Given the description of an element on the screen output the (x, y) to click on. 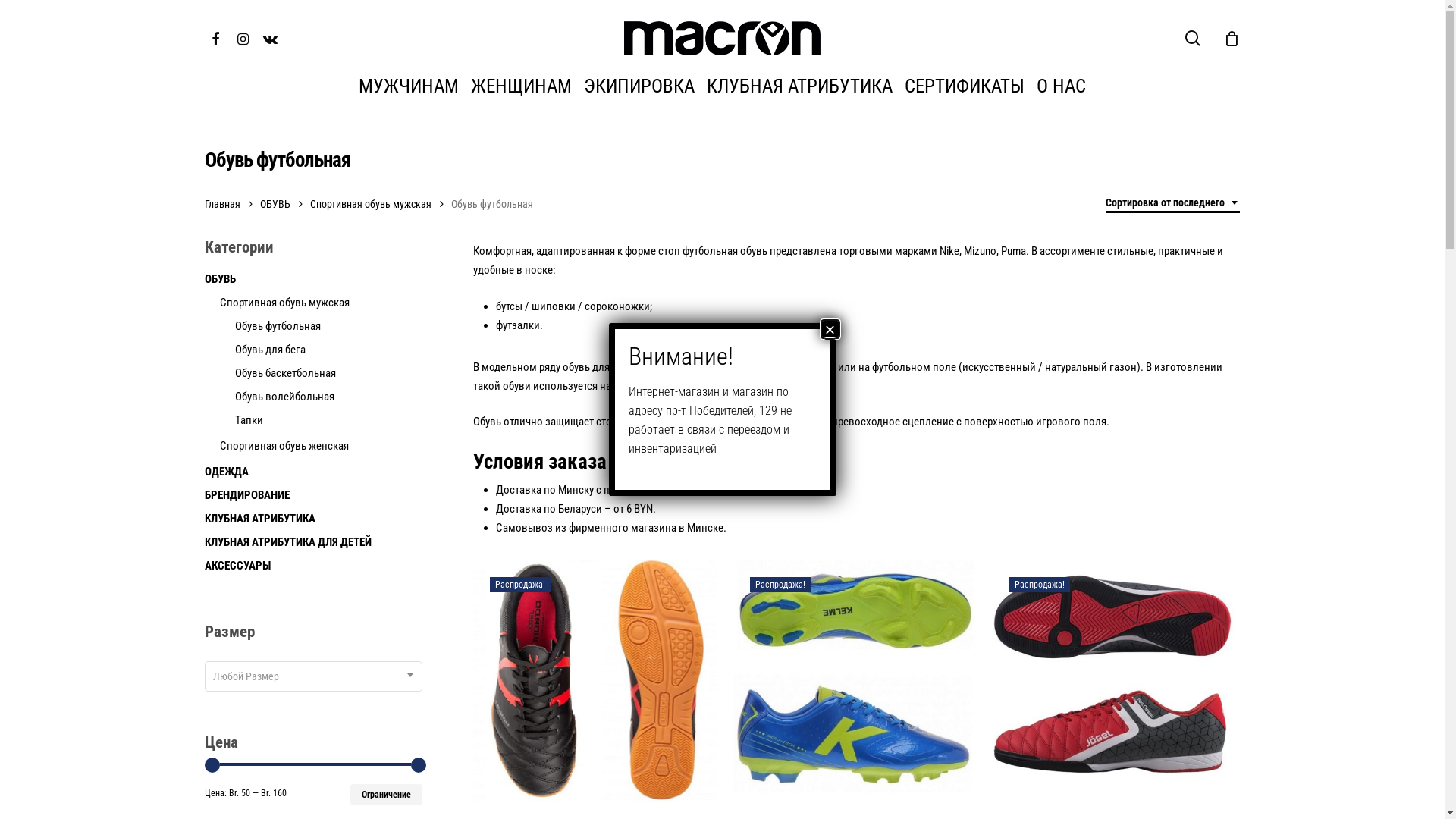
VK Element type: text (269, 38)
FACEBOOK Element type: text (215, 38)
INSTAGRAM Element type: text (242, 38)
search Element type: text (1192, 38)
